Given the description of an element on the screen output the (x, y) to click on. 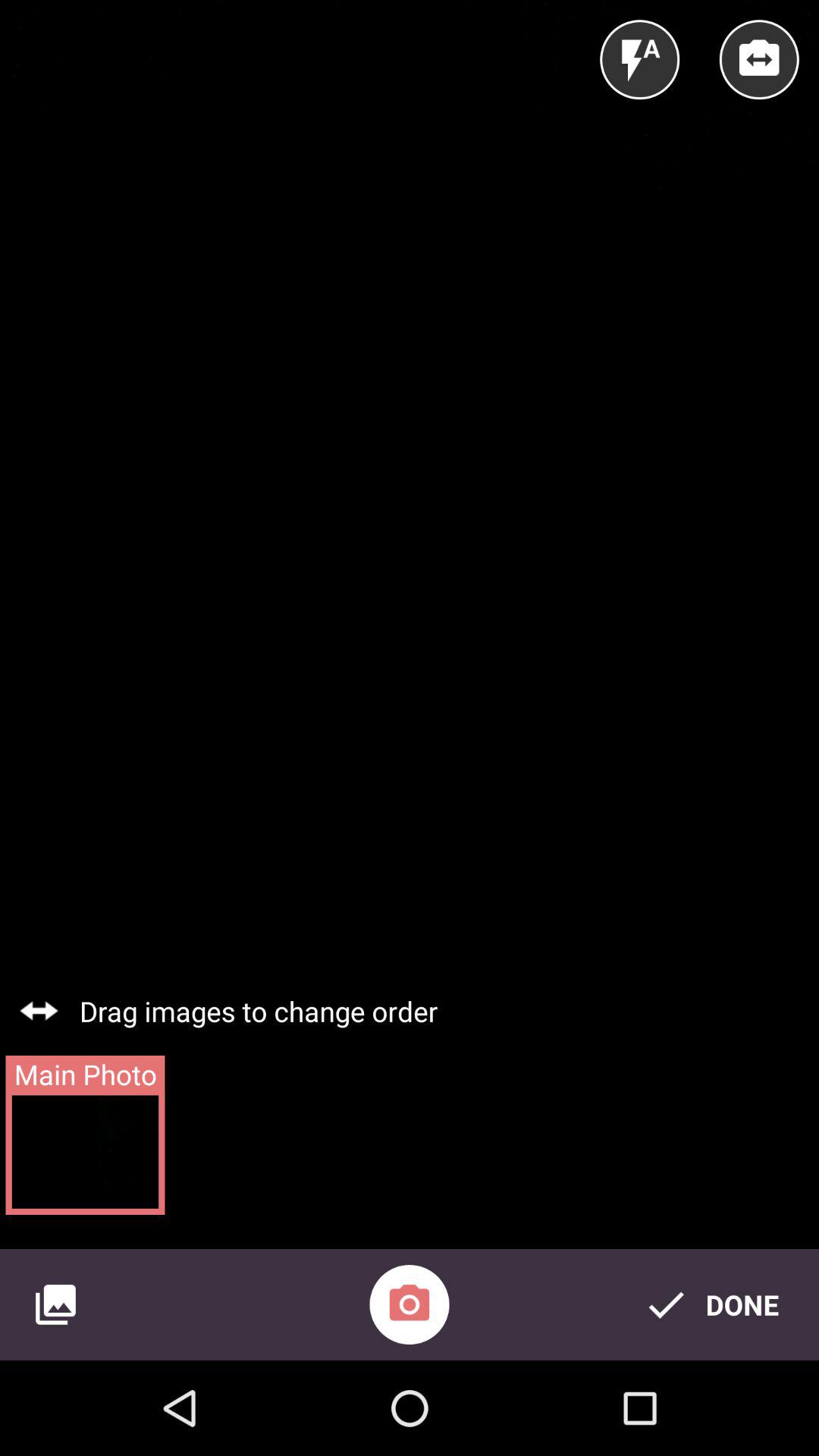
open the item to the left of done (409, 1304)
